Given the description of an element on the screen output the (x, y) to click on. 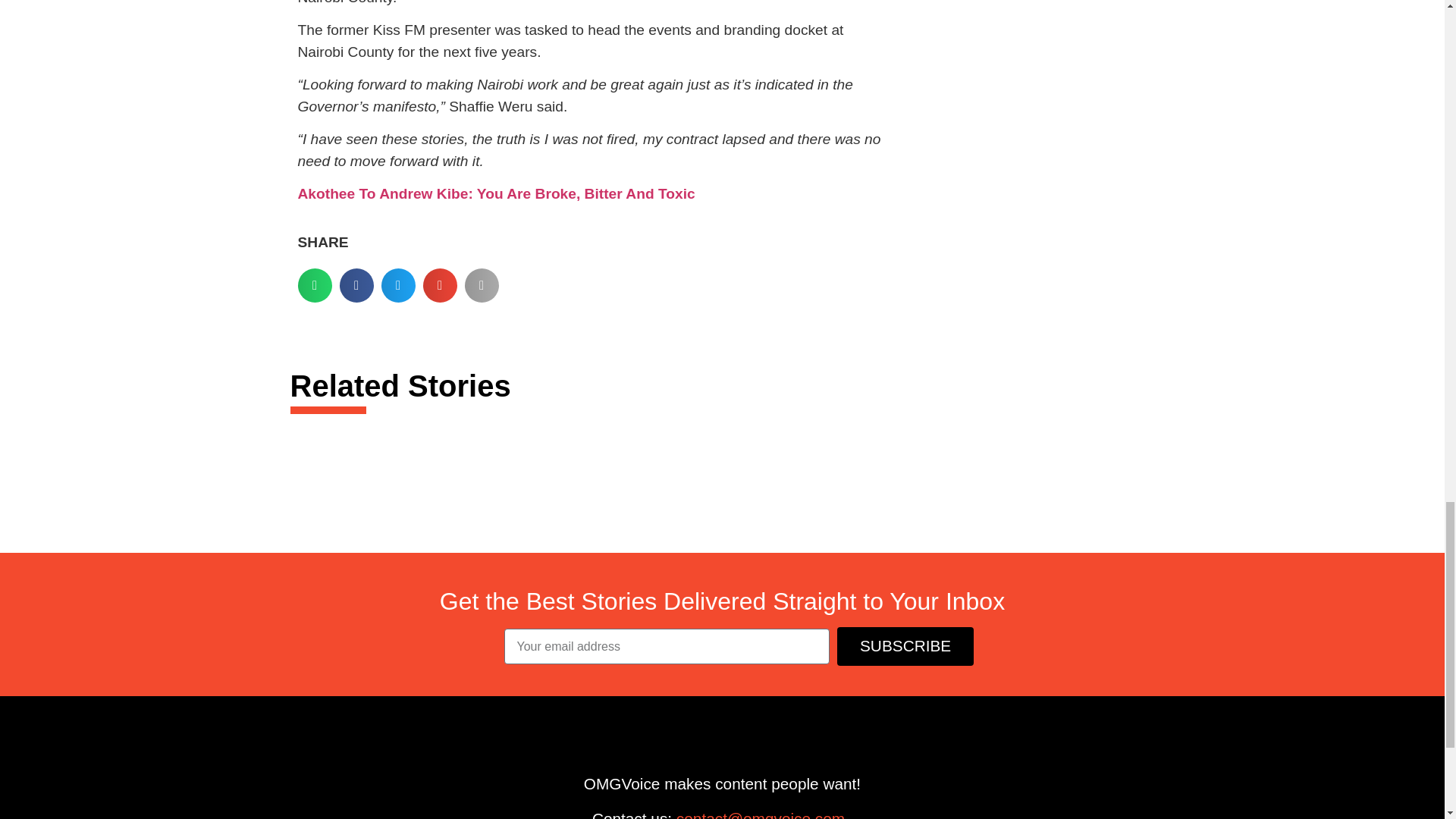
SUBSCRIBE (905, 646)
Akothee To Andrew Kibe: You Are Broke, Bitter And Toxic (495, 193)
